Given the description of an element on the screen output the (x, y) to click on. 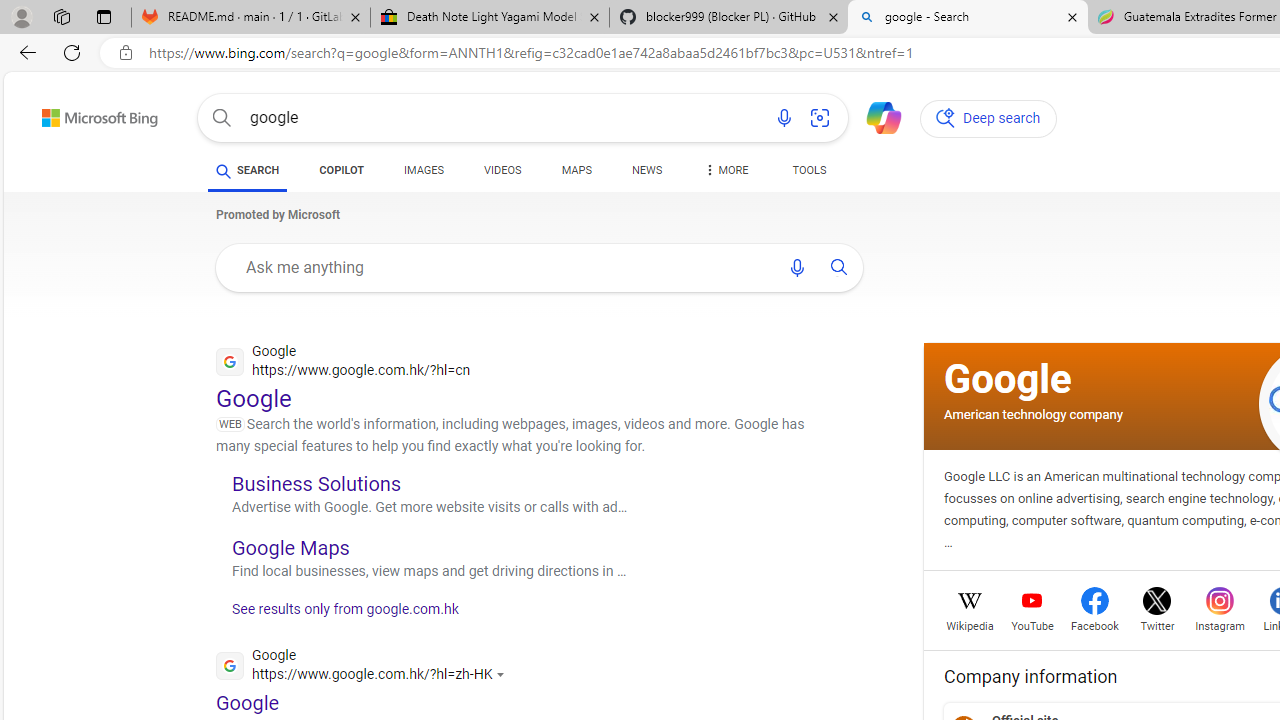
American technology company (1033, 413)
Dropdown Menu (724, 170)
Twitter (1156, 624)
MAPS (576, 173)
TOOLS (808, 170)
NEWS (646, 170)
VIDEOS (502, 170)
AutomationID: uaseabtn (839, 267)
COPILOT (341, 173)
Workspaces (61, 16)
Search using voice (797, 267)
Chat (875, 116)
Global web icon (229, 664)
Skip to content (64, 111)
